Given the description of an element on the screen output the (x, y) to click on. 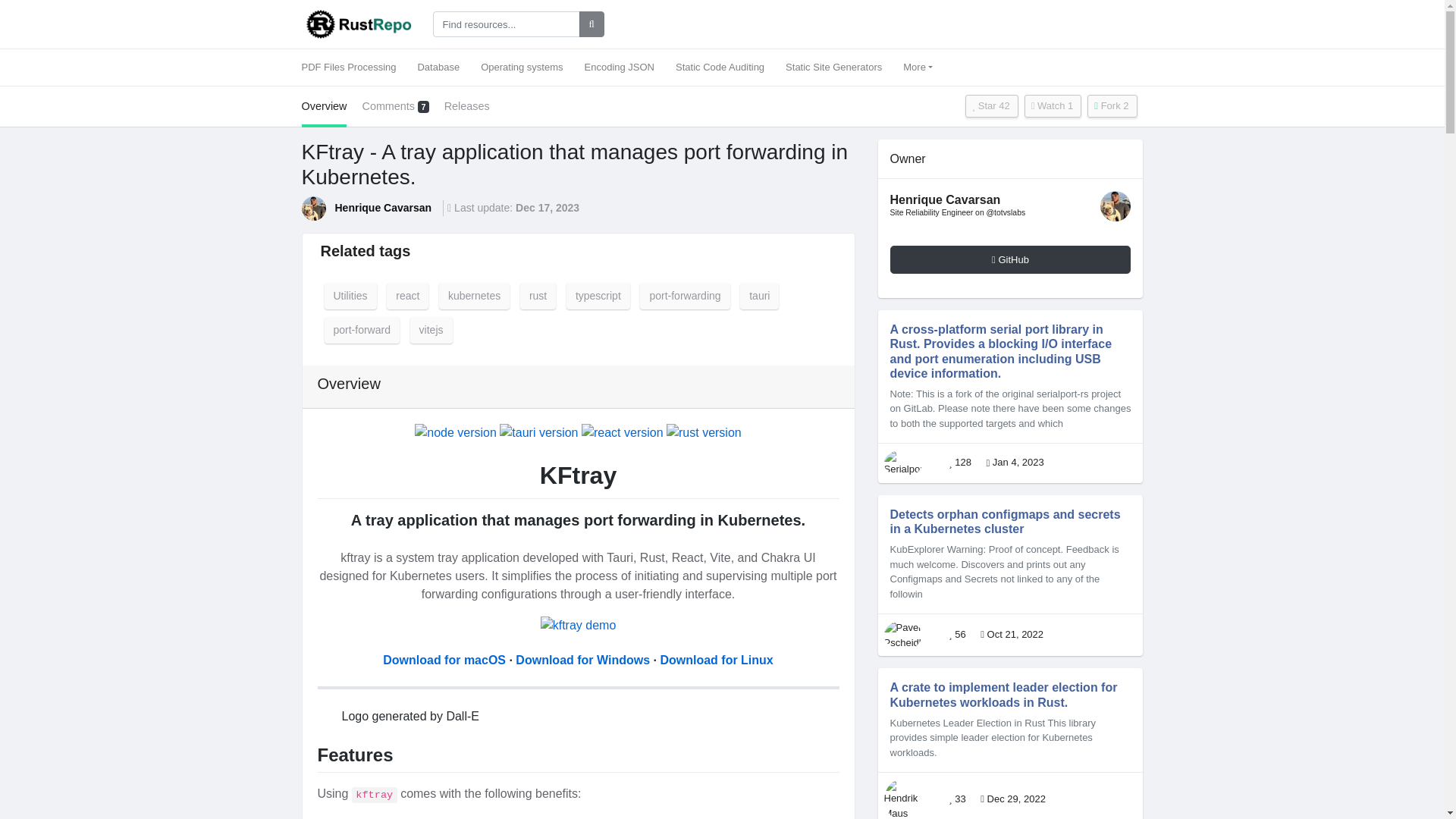
Operating systems (521, 67)
More (917, 67)
Encoding JSON (619, 67)
Database (438, 67)
Static Code Auditing (719, 67)
PDF Files Processing (354, 67)
Static Site Generators (833, 67)
